Given the description of an element on the screen output the (x, y) to click on. 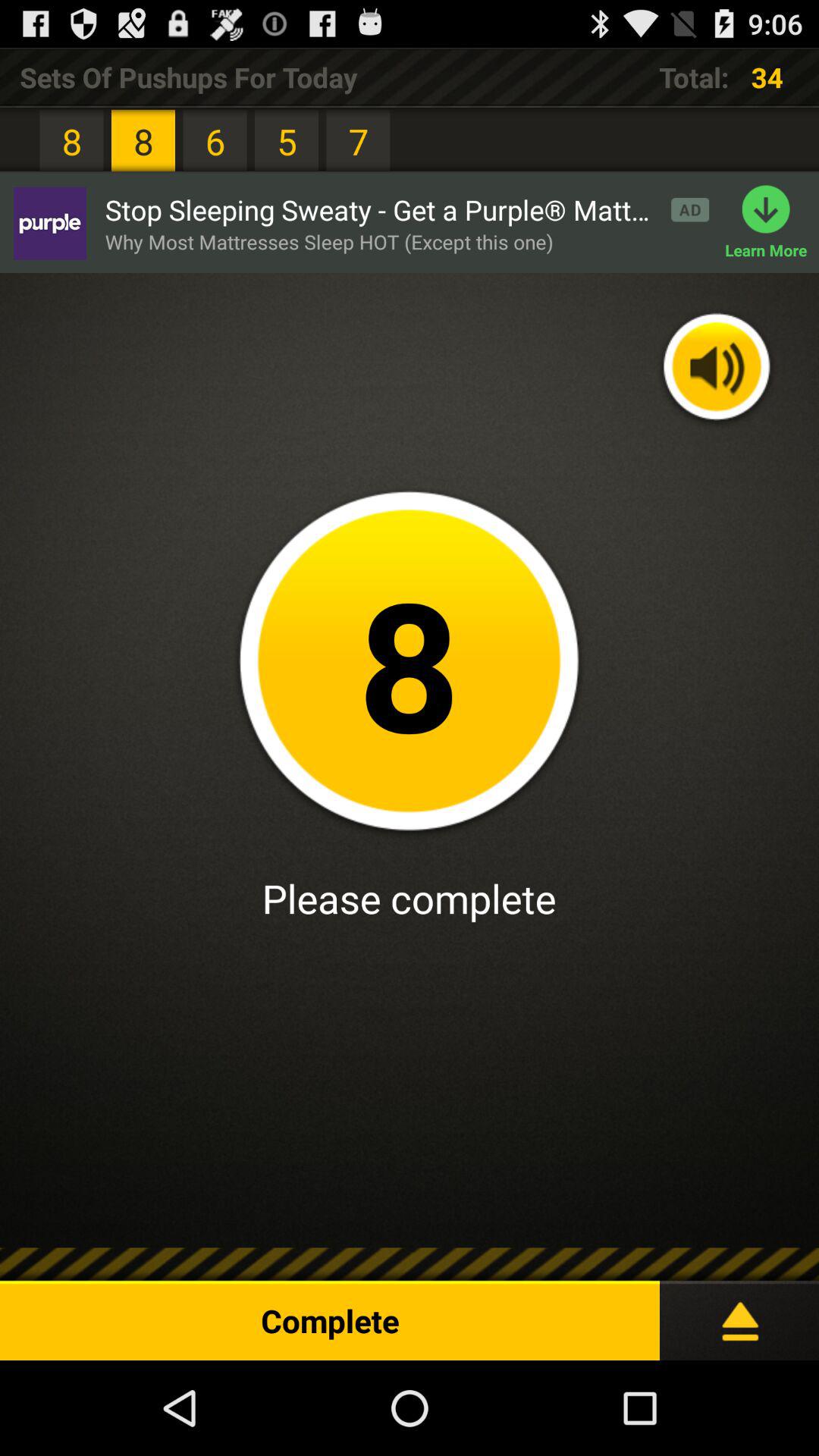
select the app above the why most mattresses app (407, 209)
